Given the description of an element on the screen output the (x, y) to click on. 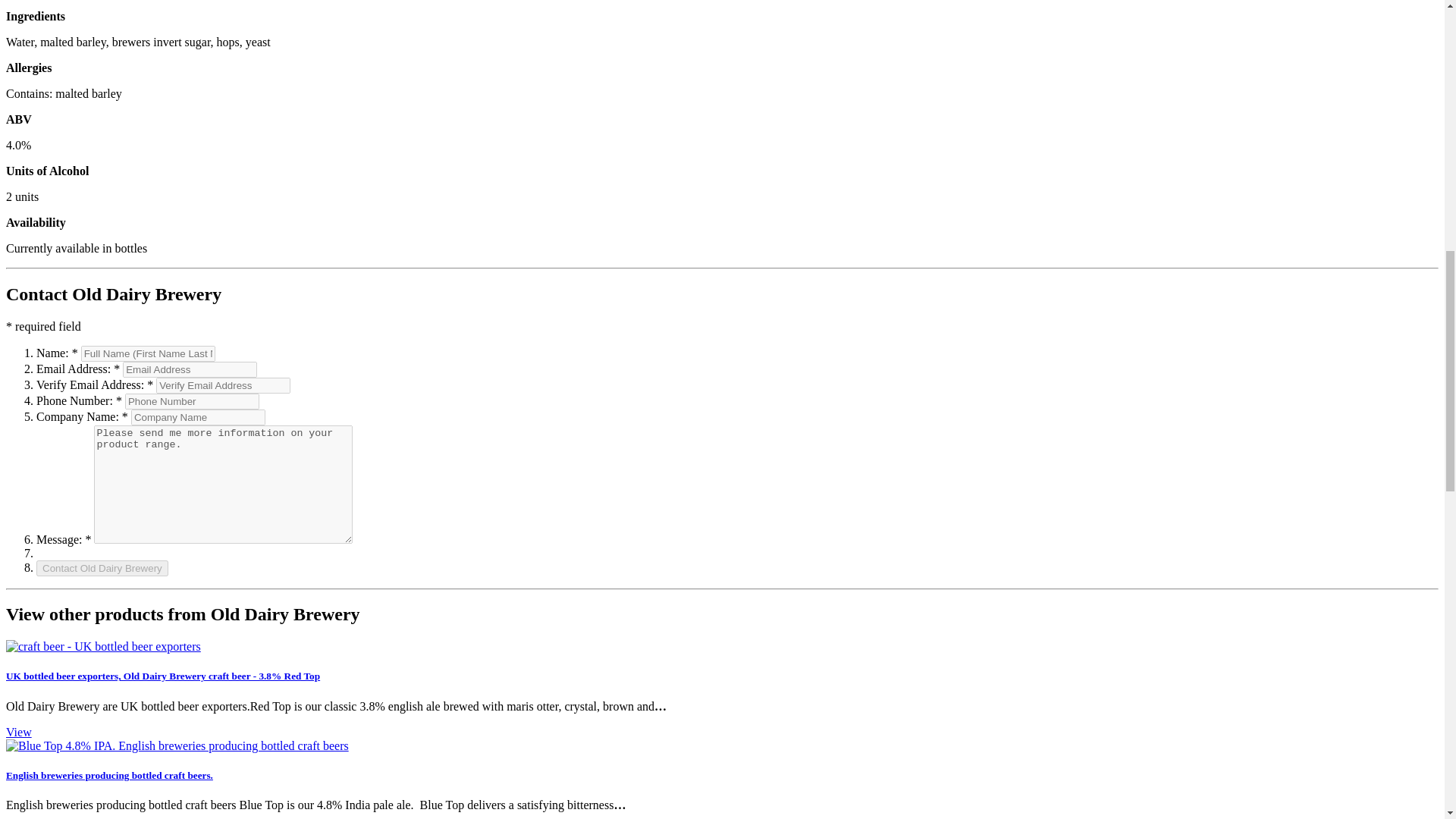
uk-bottled-beer-exporters-red-top-3-8-best-bitter (102, 645)
Contact Old Dairy Brewery (102, 567)
blue-top-ipa-english-breweries-producing-bottled-craft-beers (177, 745)
View (18, 731)
